Given the description of an element on the screen output the (x, y) to click on. 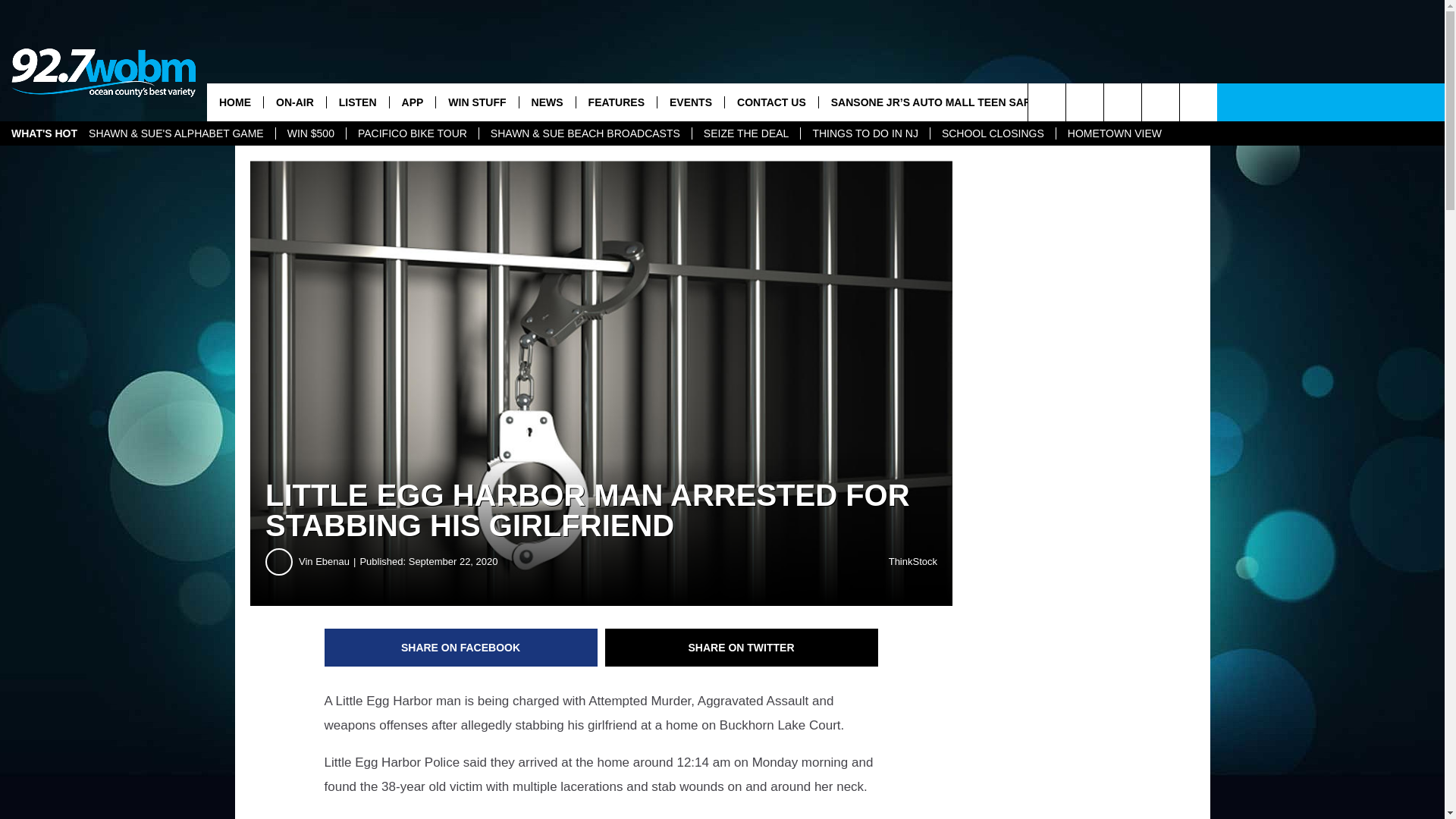
LISTEN (357, 102)
HOMETOWN VIEW (1114, 133)
APP (411, 102)
NEWS (546, 102)
HOME (234, 102)
PACIFICO BIKE TOUR (412, 133)
THINGS TO DO IN NJ (864, 133)
WIN STUFF (476, 102)
SEIZE THE DEAL (745, 133)
ON-AIR (294, 102)
Share on Twitter (741, 647)
SCHOOL CLOSINGS (992, 133)
Share on Facebook (460, 647)
